Given the description of an element on the screen output the (x, y) to click on. 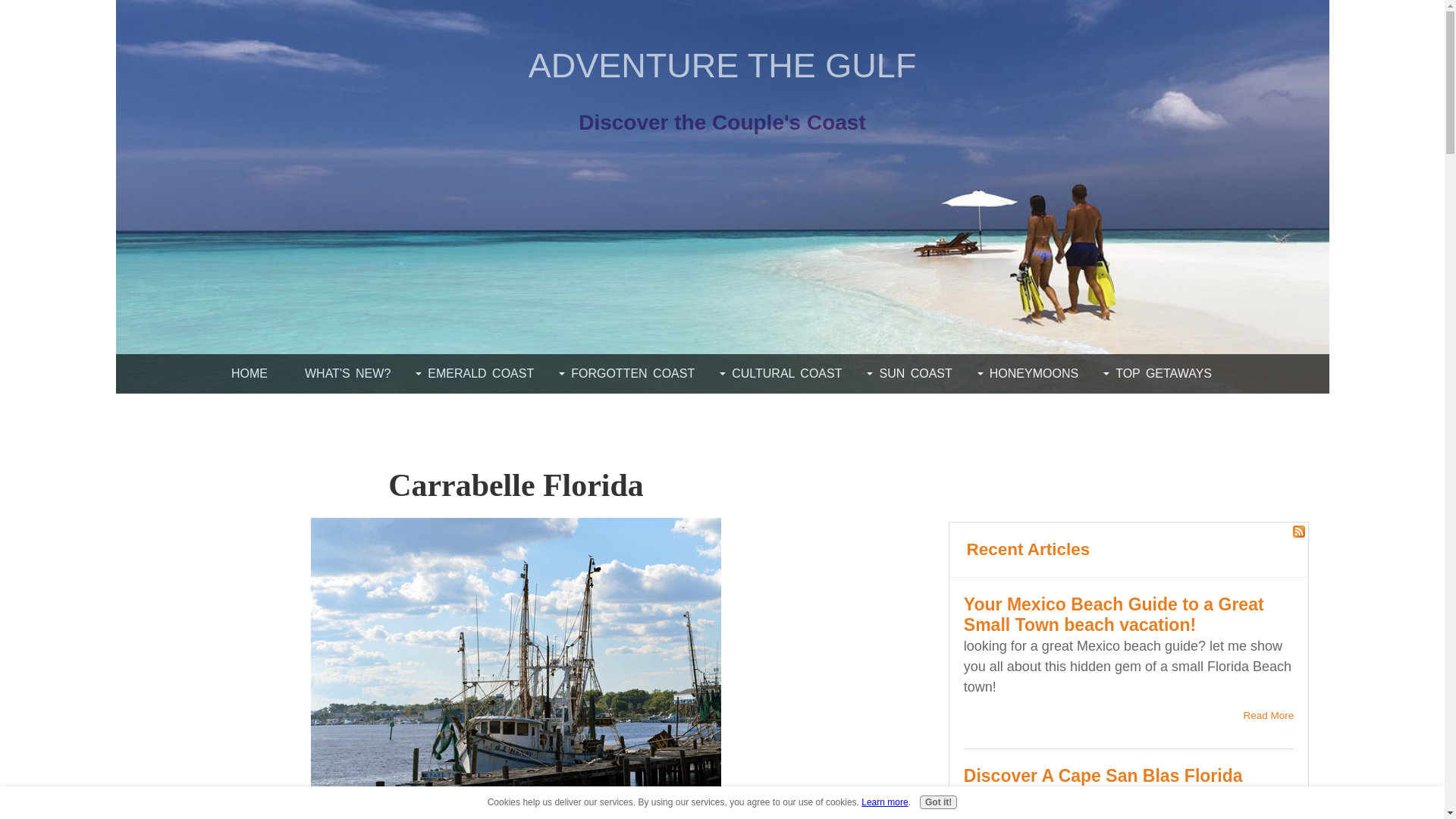
Advertisement (231, 813)
ADVENTURE THE GULF (722, 65)
HOME (248, 373)
WHAT'S NEW? (347, 373)
Advertisement (994, 447)
